Given the description of an element on the screen output the (x, y) to click on. 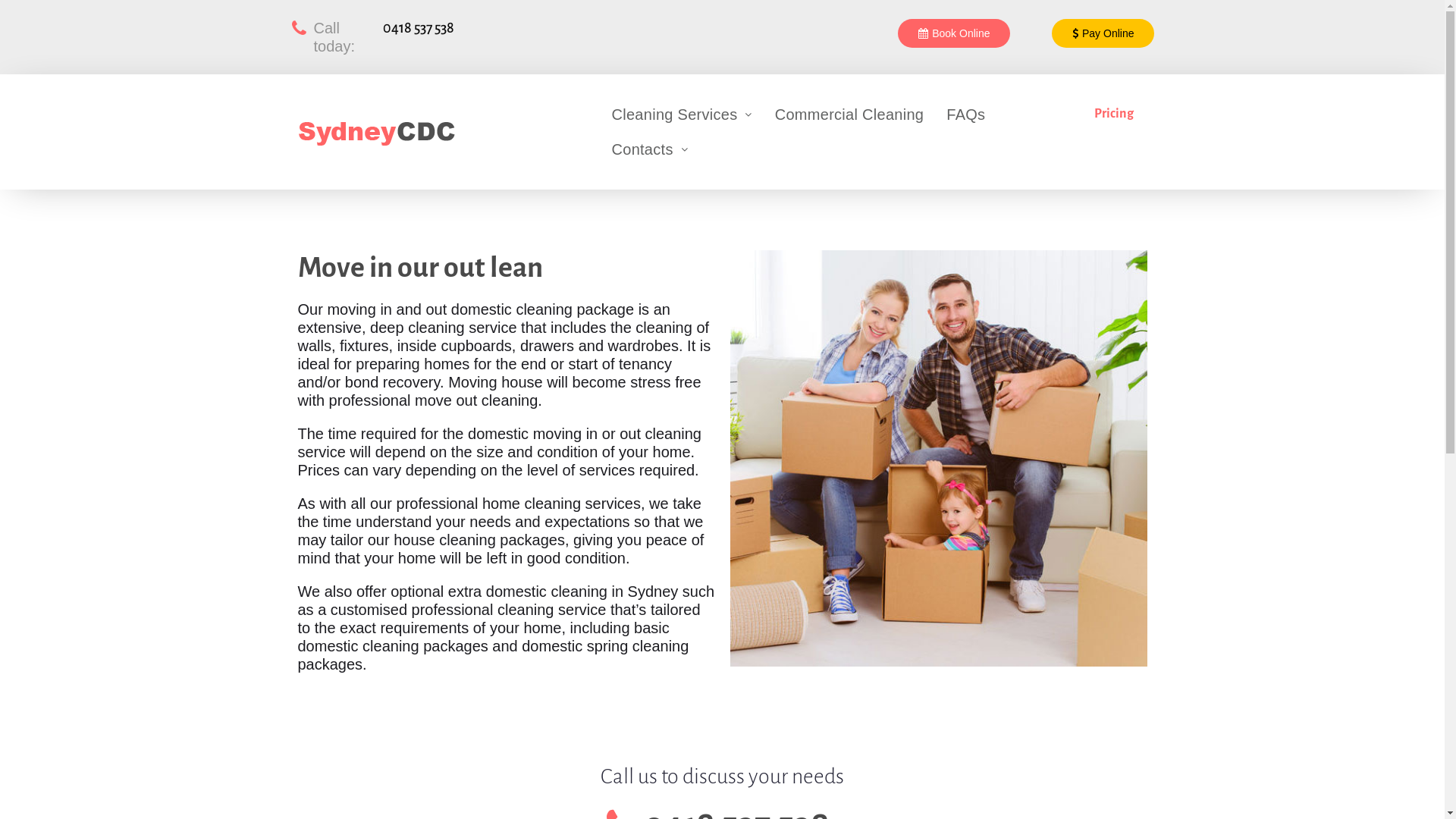
Book Online Element type: text (953, 32)
Cleaning Services Element type: text (681, 114)
FAQs Element type: text (965, 114)
Pay Online Element type: text (1102, 32)
Pricing Element type: text (1113, 113)
Commercial Cleaning Element type: text (849, 114)
0418 537 538 Element type: text (418, 27)
Contacts Element type: text (649, 148)
